Given the description of an element on the screen output the (x, y) to click on. 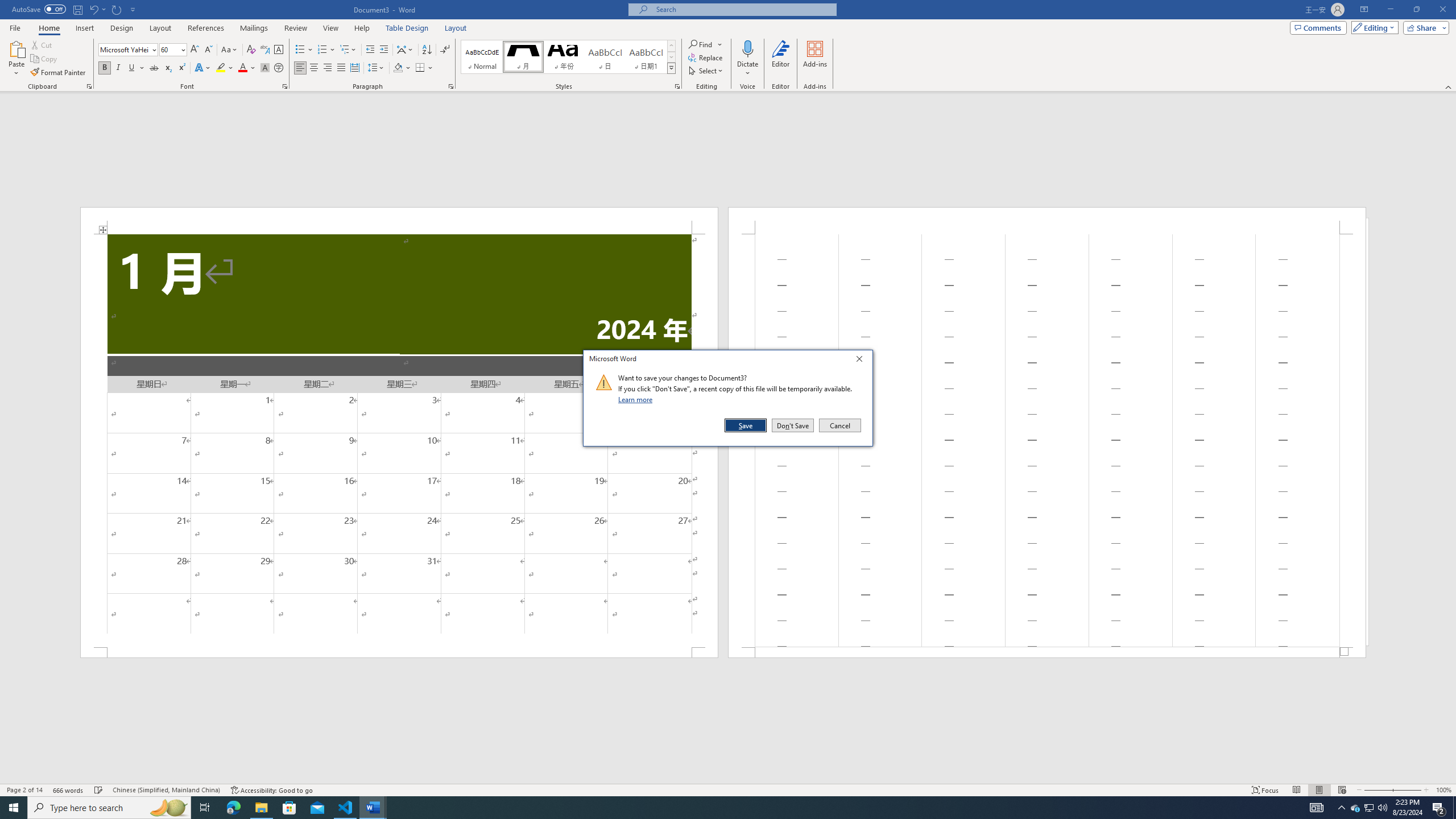
Paste (16, 58)
Layout (455, 28)
Quick Access Toolbar (74, 9)
Paste (16, 48)
Undo Apply Quick Style (92, 9)
Action Center, 2 new notifications (1439, 807)
Phonetic Guide... (264, 49)
Microsoft search (742, 9)
Notification Chevron (1341, 807)
Numbering (322, 49)
